Given the description of an element on the screen output the (x, y) to click on. 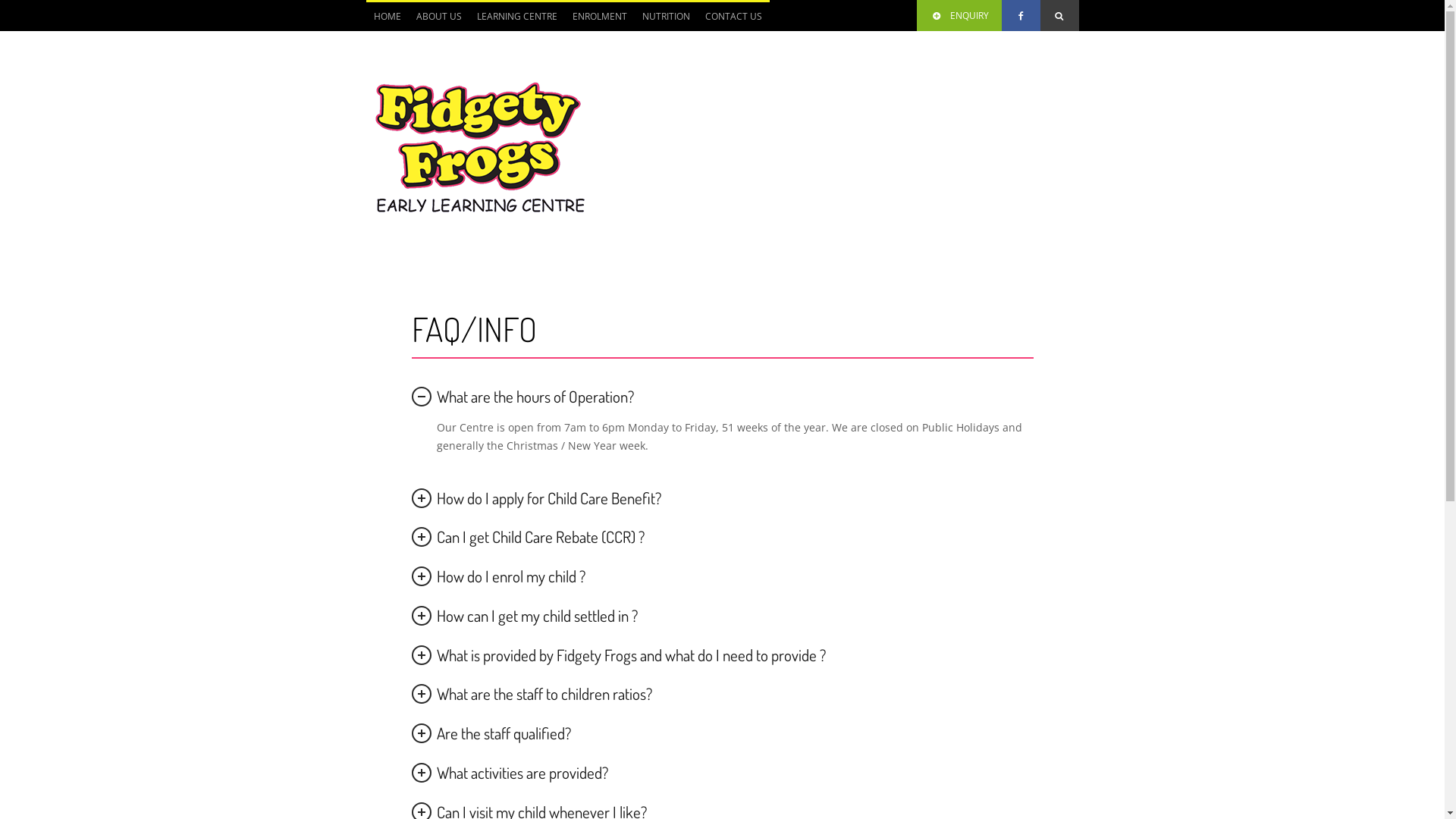
NUTRITION Element type: text (664, 16)
HOME Element type: text (386, 16)
ENQUIRY Element type: text (959, 15)
CONTACT US Element type: text (733, 16)
